Given the description of an element on the screen output the (x, y) to click on. 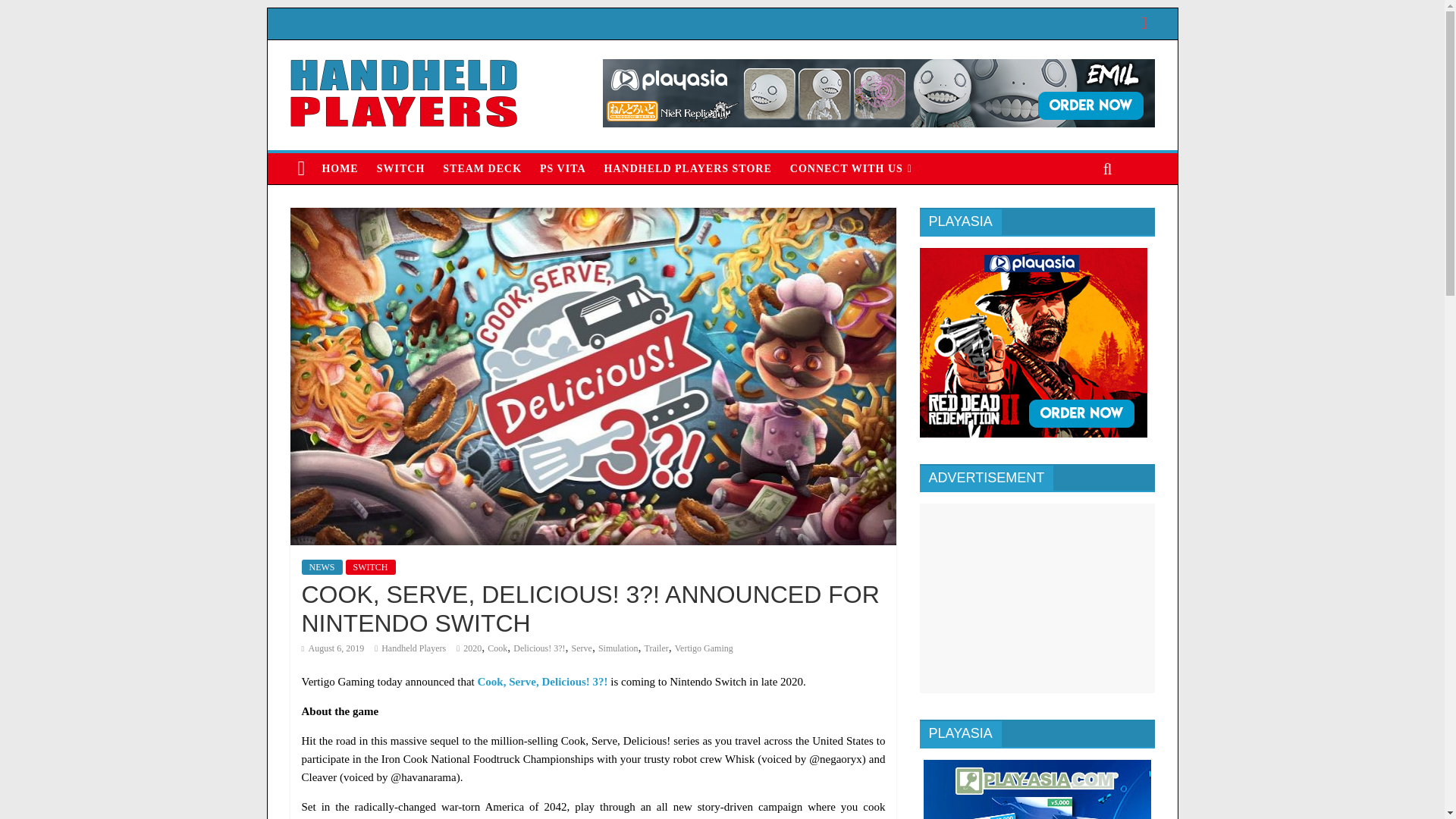
STEAM DECK (482, 168)
Delicious! 3?! (538, 647)
Advertisement (1036, 597)
SWITCH (400, 168)
PS VITA (563, 168)
18:35 (333, 647)
Simulation (618, 647)
Cook (496, 647)
Handheld Players (413, 647)
August 6, 2019 (333, 647)
